Given the description of an element on the screen output the (x, y) to click on. 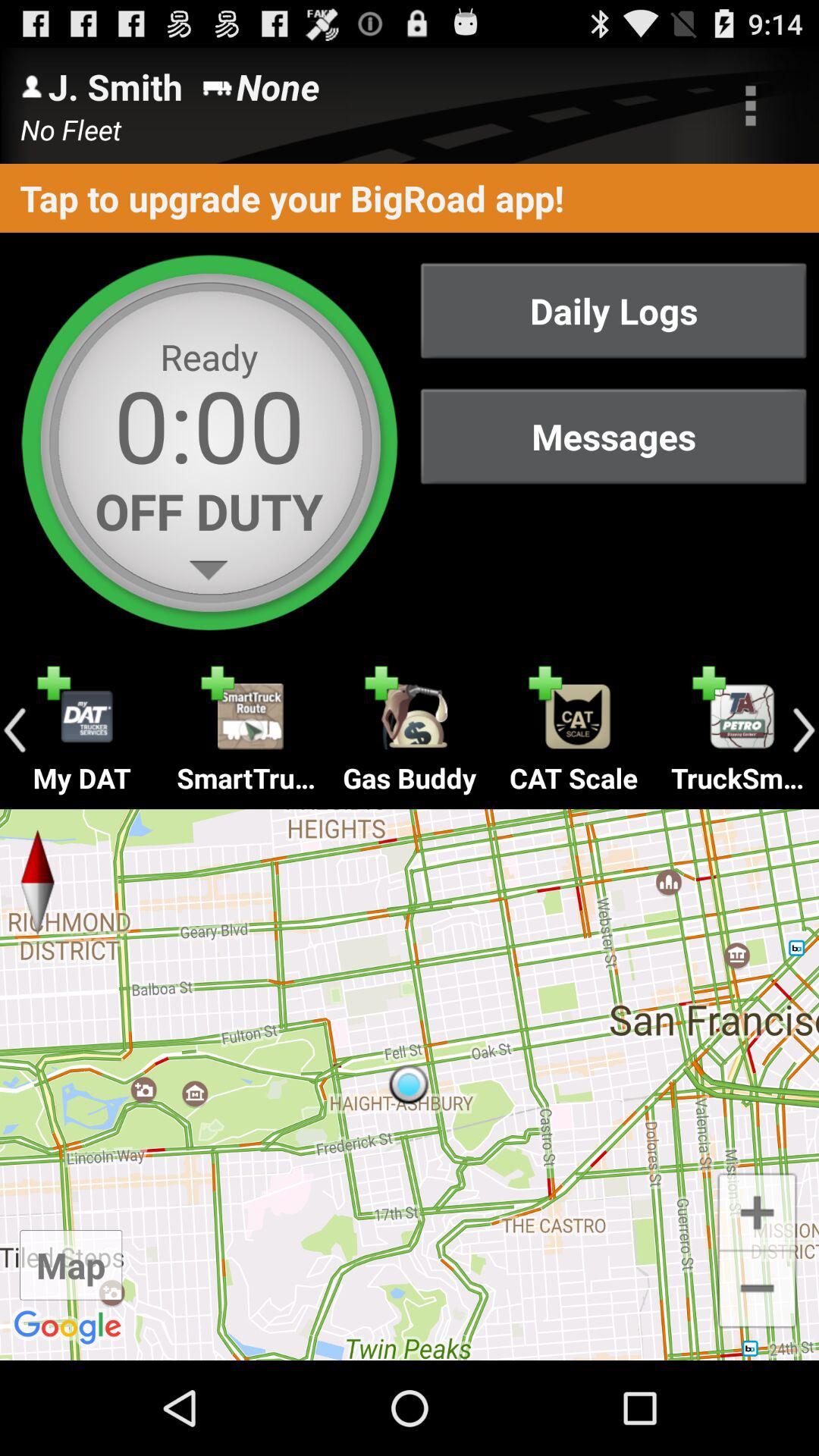
zoom out (757, 1290)
